Given the description of an element on the screen output the (x, y) to click on. 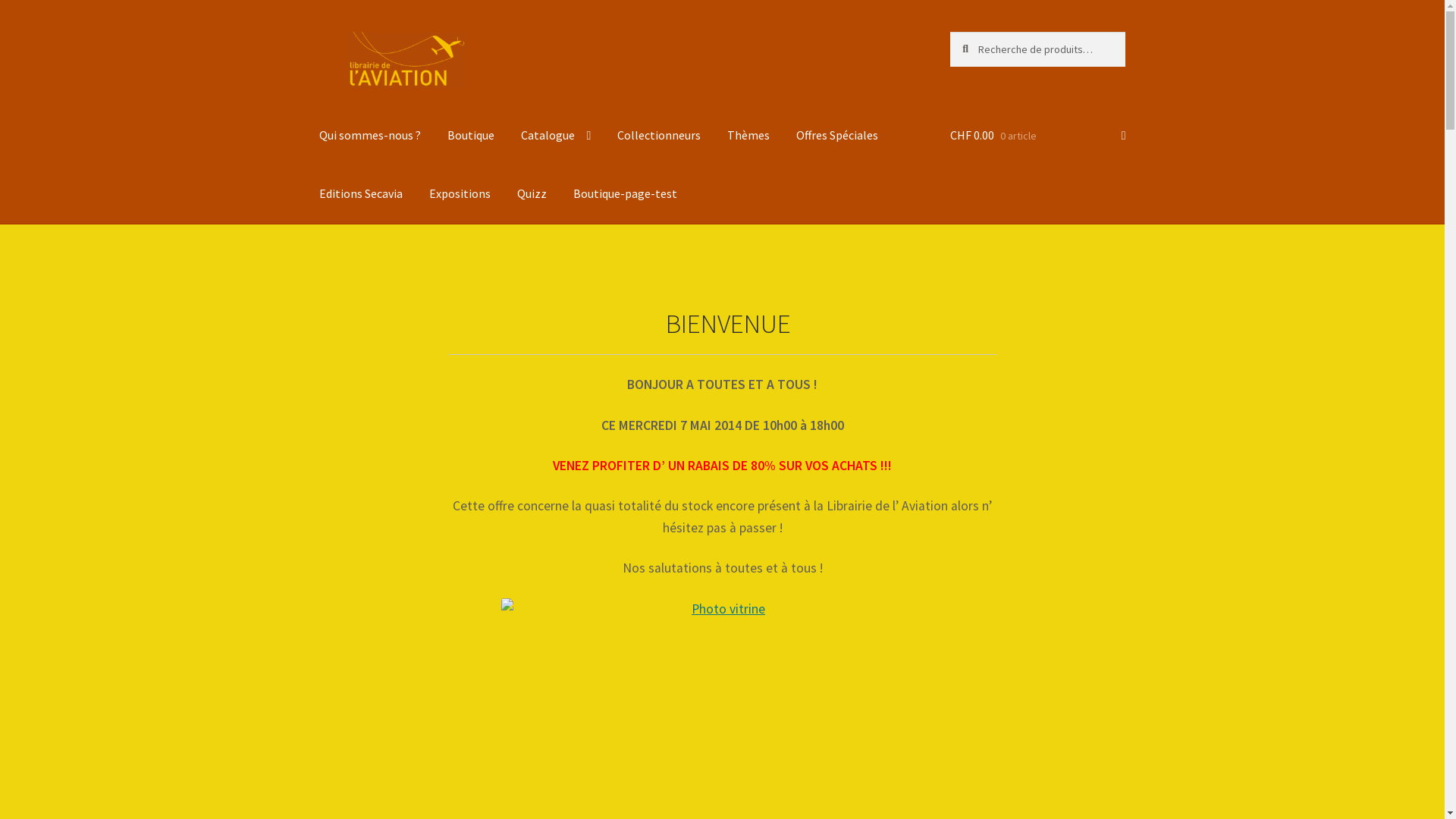
Recherche Element type: text (949, 31)
Boutique Element type: text (470, 135)
Qui sommes-nous ? Element type: text (370, 135)
Quizz Element type: text (531, 193)
CHF 0.00 0 article Element type: text (1037, 135)
Boutique-page-test Element type: text (625, 193)
Editions Secavia Element type: text (360, 193)
avion Element type: hover (454, 313)
Catalogue Element type: text (555, 135)
Expositions Element type: text (459, 193)
Collectionneurs Element type: text (658, 135)
